Given the description of an element on the screen output the (x, y) to click on. 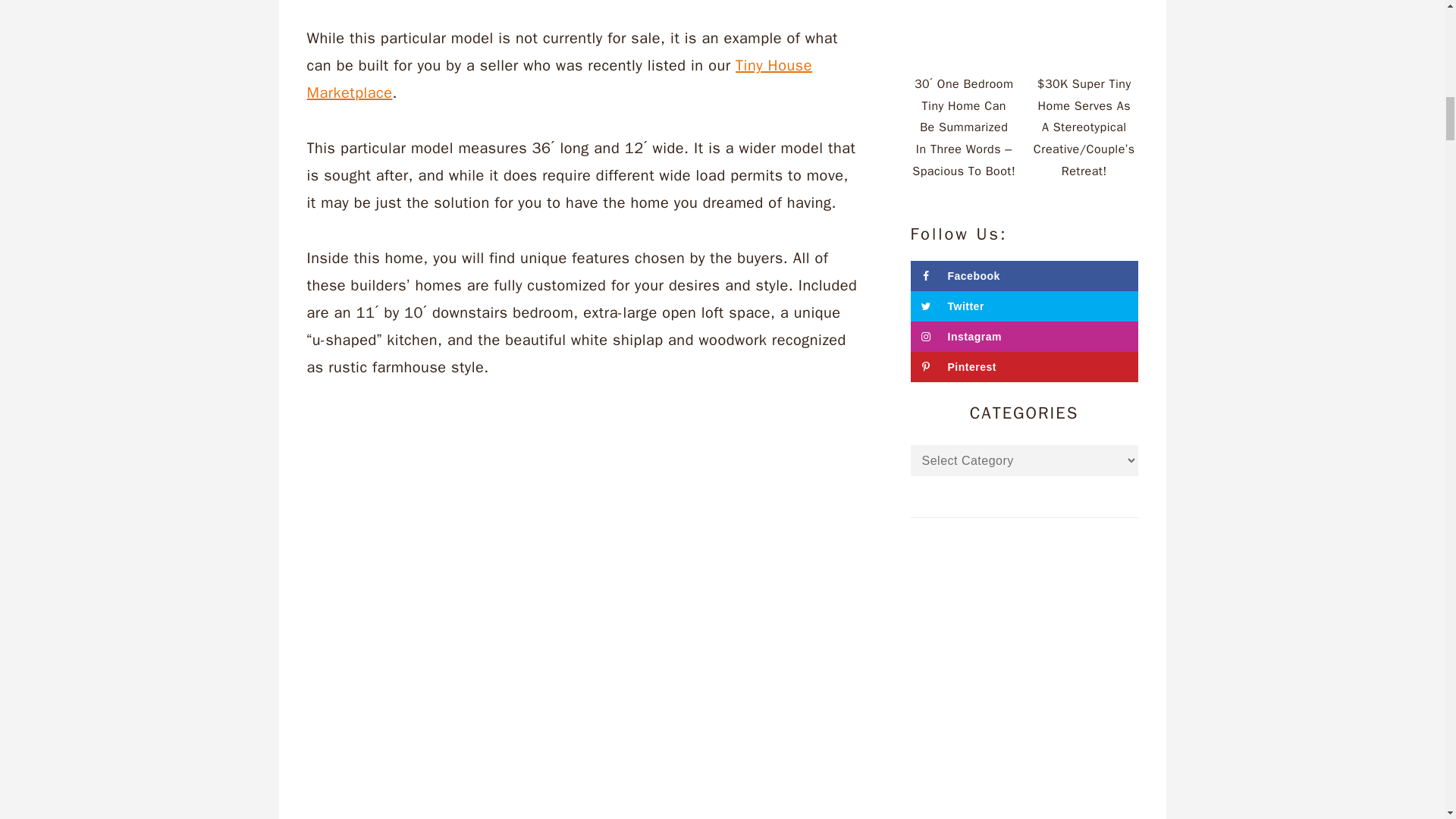
Follow on Facebook (1023, 276)
Follow on Pinterest (1023, 367)
Follow on Instagram (1023, 336)
Follow on Twitter (1023, 306)
